Given the description of an element on the screen output the (x, y) to click on. 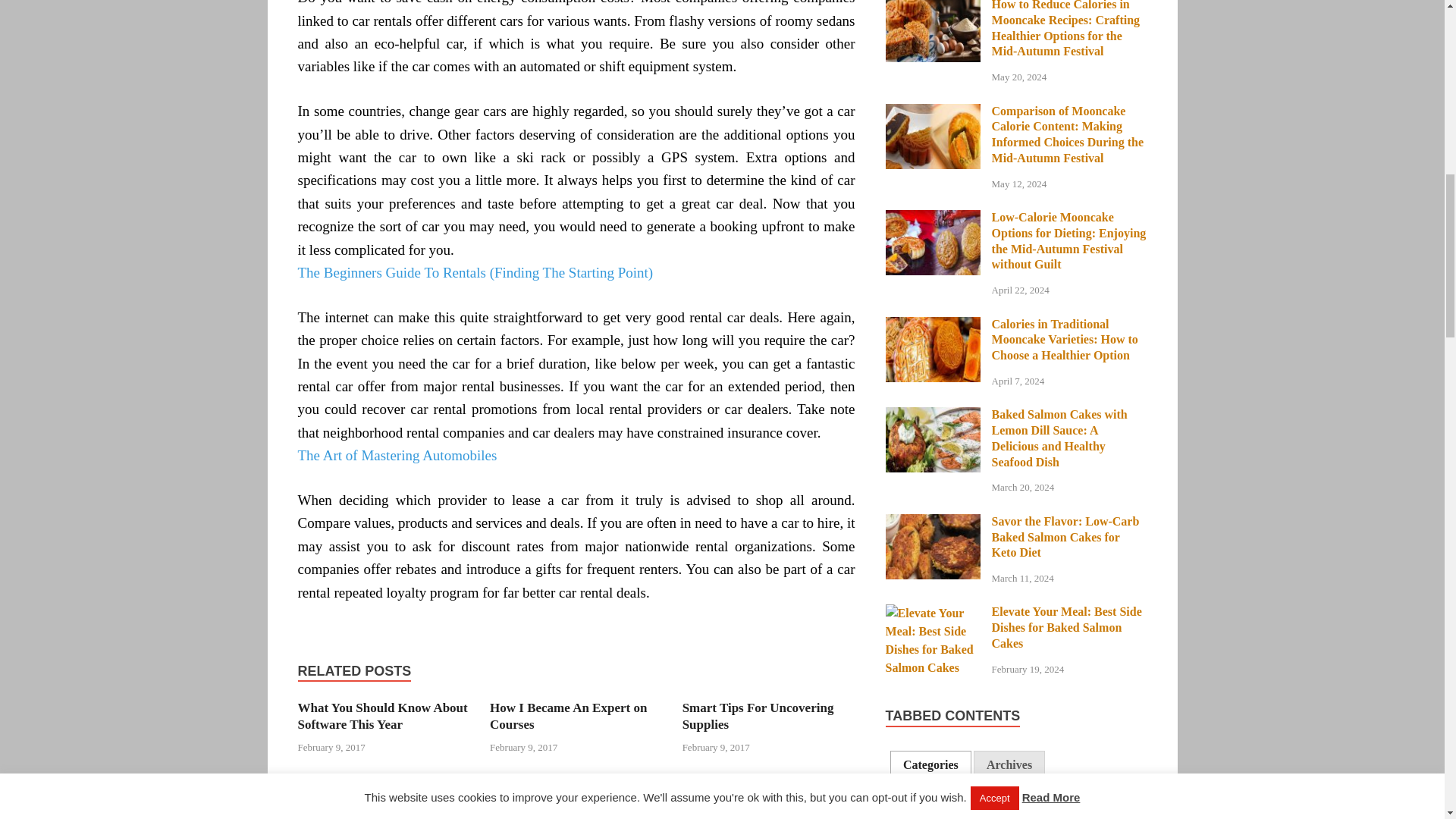
How I Became An Expert on Courses (567, 716)
Smart Tips For Uncovering Supplies (758, 716)
What You Should Know About Software This Year (382, 716)
